Given the description of an element on the screen output the (x, y) to click on. 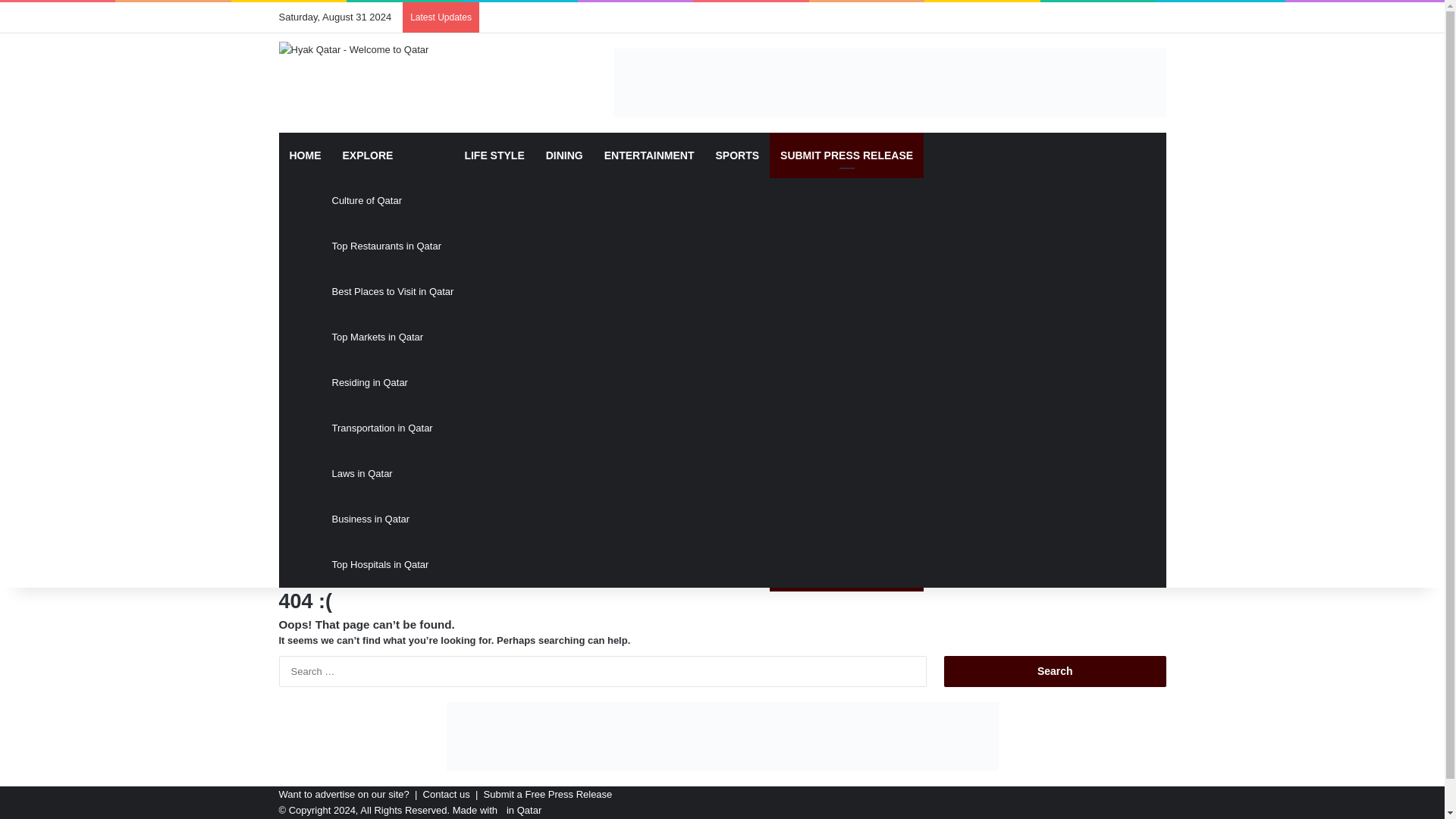
SUBMIT PRESS RELEASE (846, 155)
Top Restaurants in Qatar (392, 246)
Search (1054, 671)
LIFE STYLE (493, 155)
ENTERTAINMENT (649, 155)
Business in Qatar (392, 519)
Culture of Qatar (392, 200)
Best Places to Visit in Qatar (392, 291)
DINING (564, 155)
Search (1054, 671)
